Given the description of an element on the screen output the (x, y) to click on. 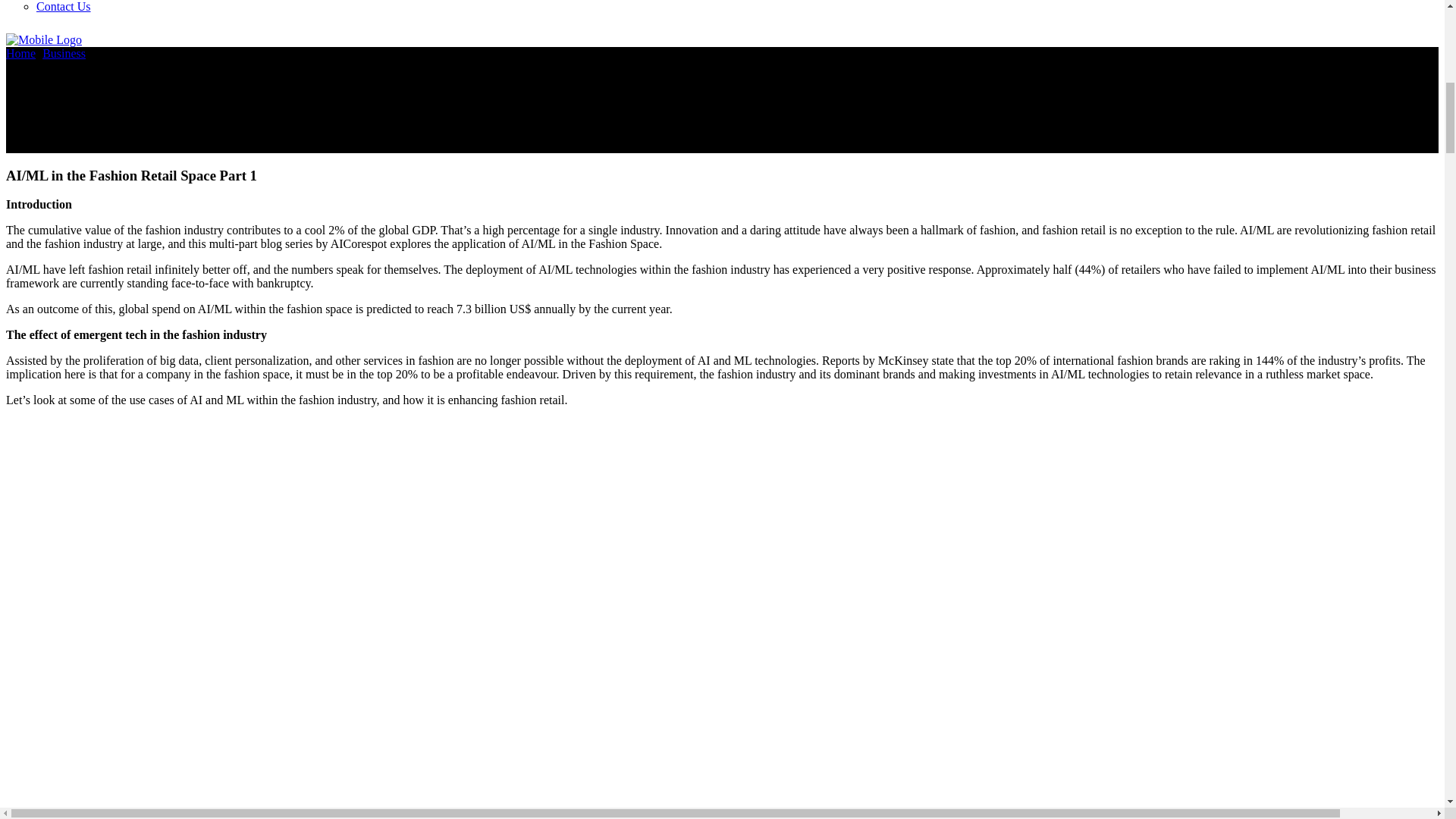
Contact Us (63, 6)
